Given the description of an element on the screen output the (x, y) to click on. 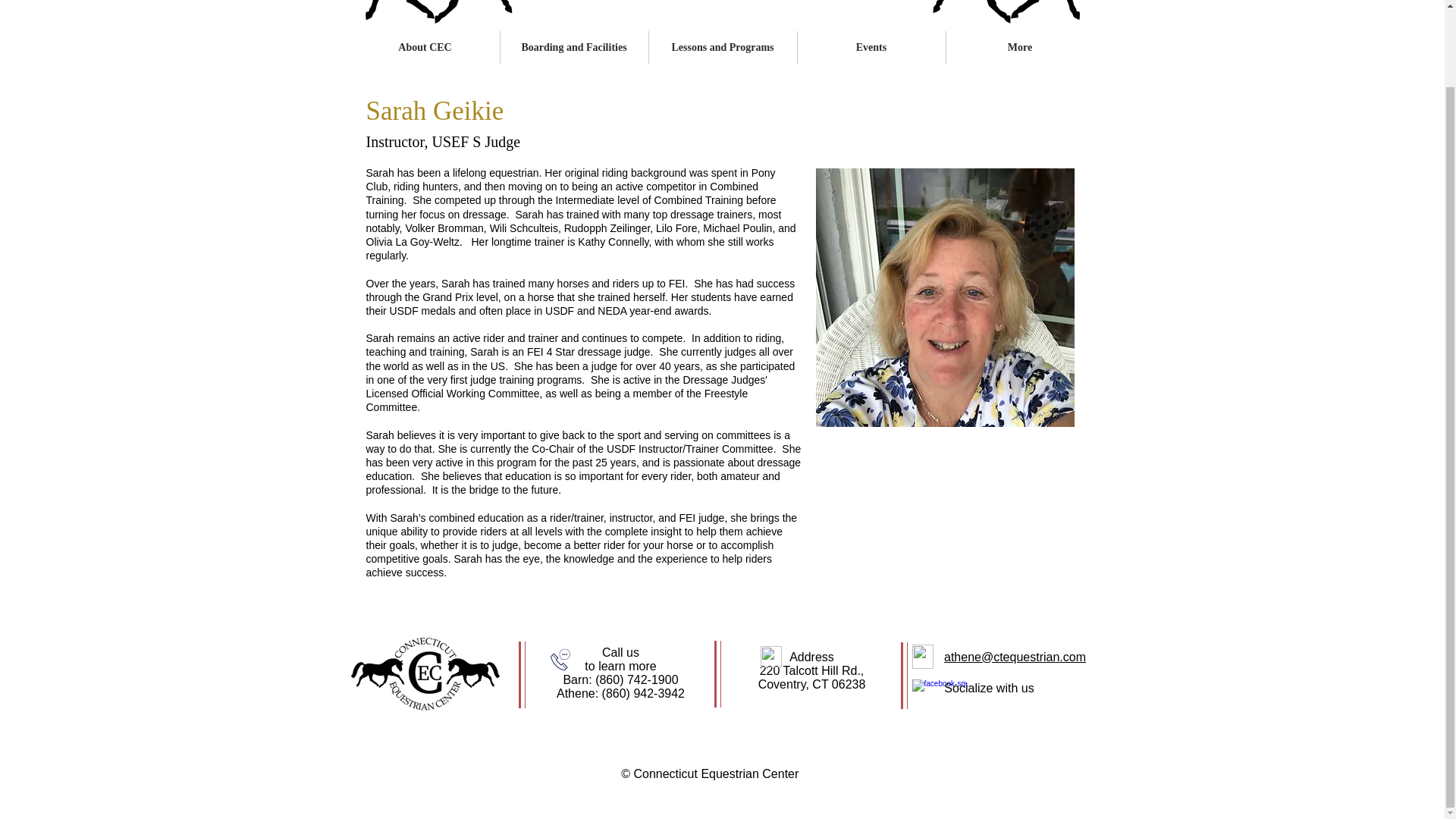
Boarding and Facilities (573, 47)
Lessons and Programs (722, 47)
About CEC (424, 47)
Events (870, 47)
